Given the description of an element on the screen output the (x, y) to click on. 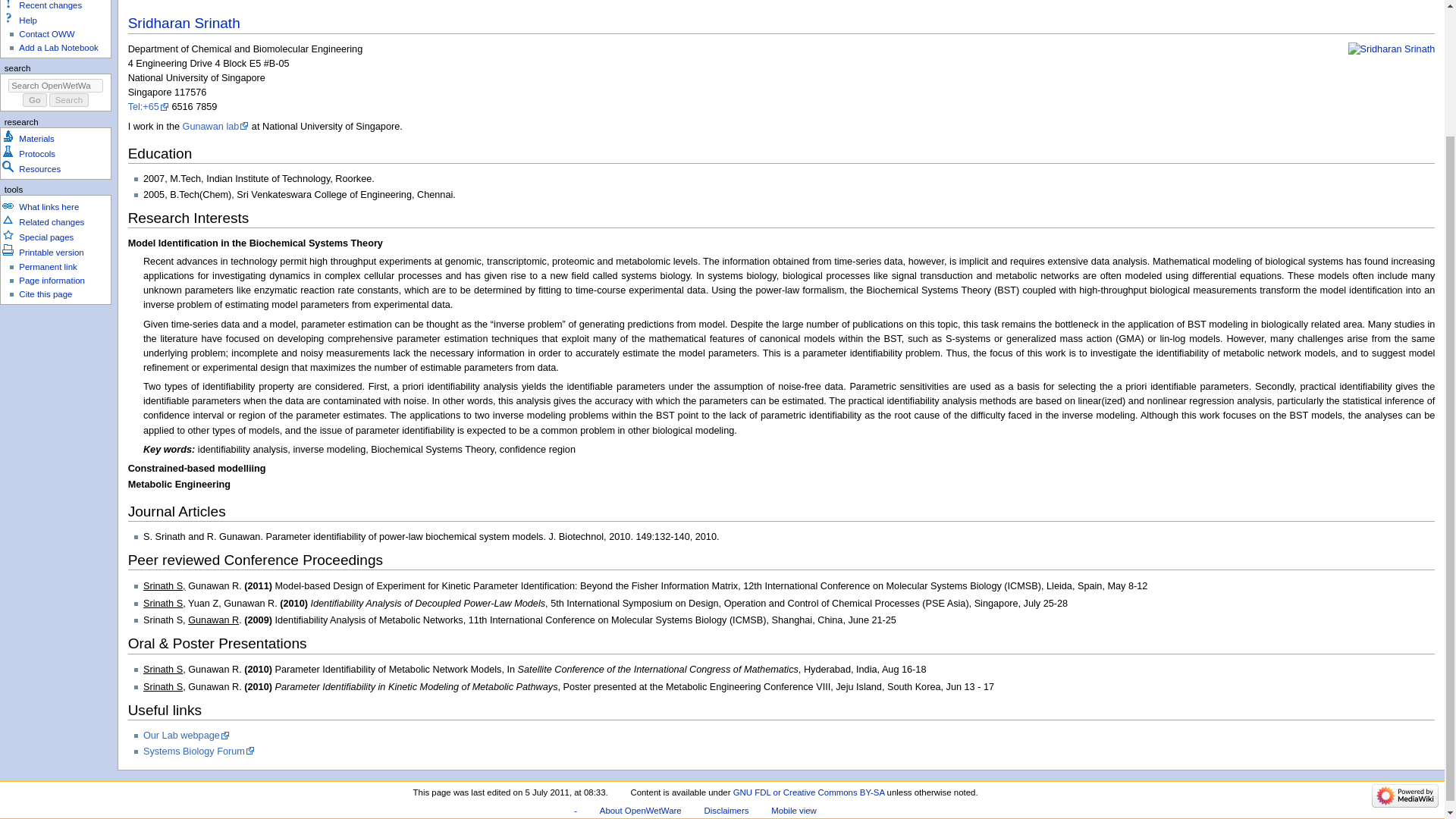
What links here (48, 206)
Our Lab webpage (186, 735)
Contact OWW (46, 33)
Resources (39, 168)
Search (68, 100)
Protocols (36, 153)
Help (27, 20)
Search (68, 100)
Sridharan Srinath (184, 23)
Go (34, 100)
Search (68, 100)
Recent changes (49, 4)
Systems Biology Forum (198, 751)
Go (34, 100)
Add a Lab Notebook (57, 47)
